Given the description of an element on the screen output the (x, y) to click on. 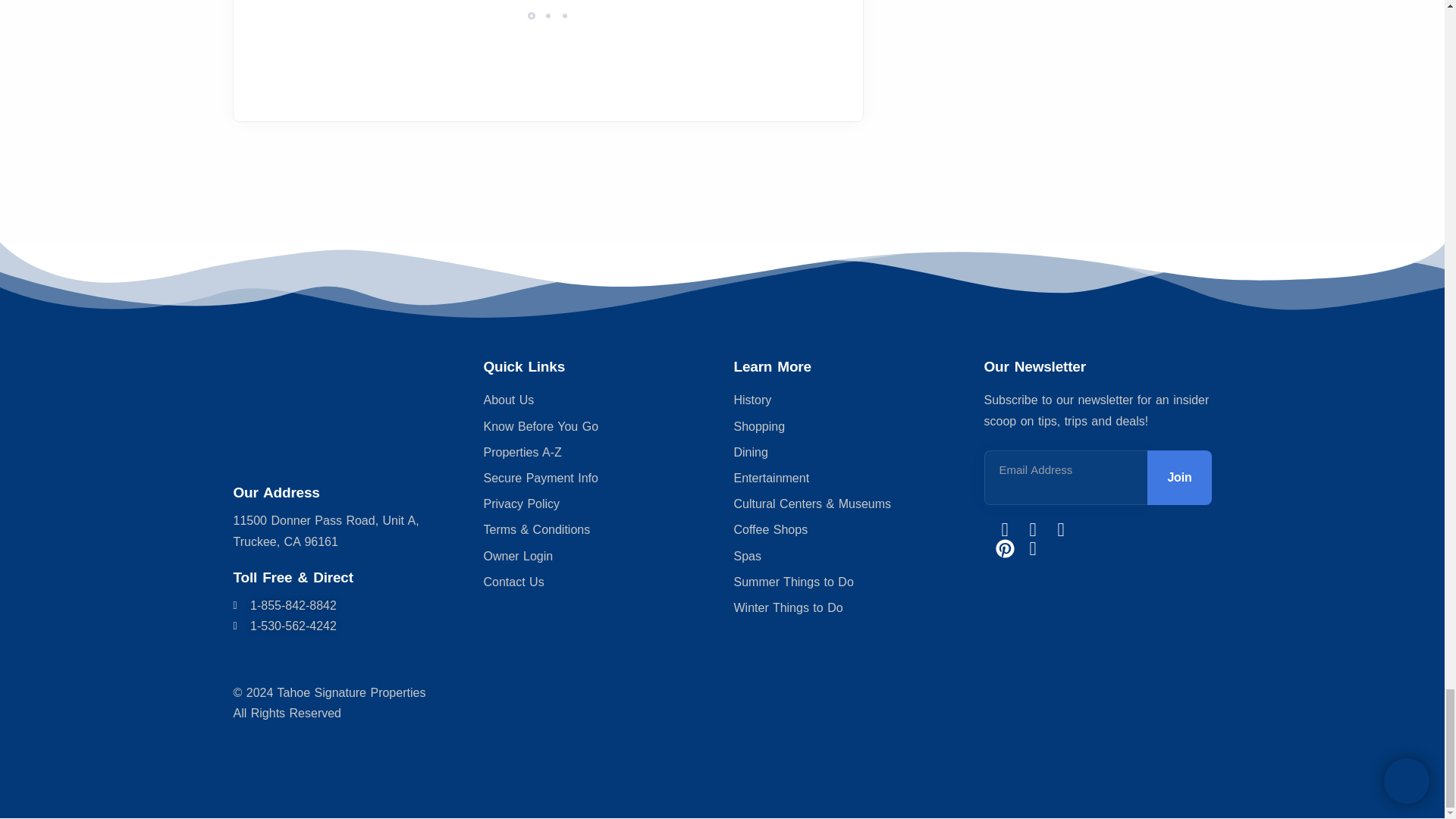
Join (1179, 477)
